Given the description of an element on the screen output the (x, y) to click on. 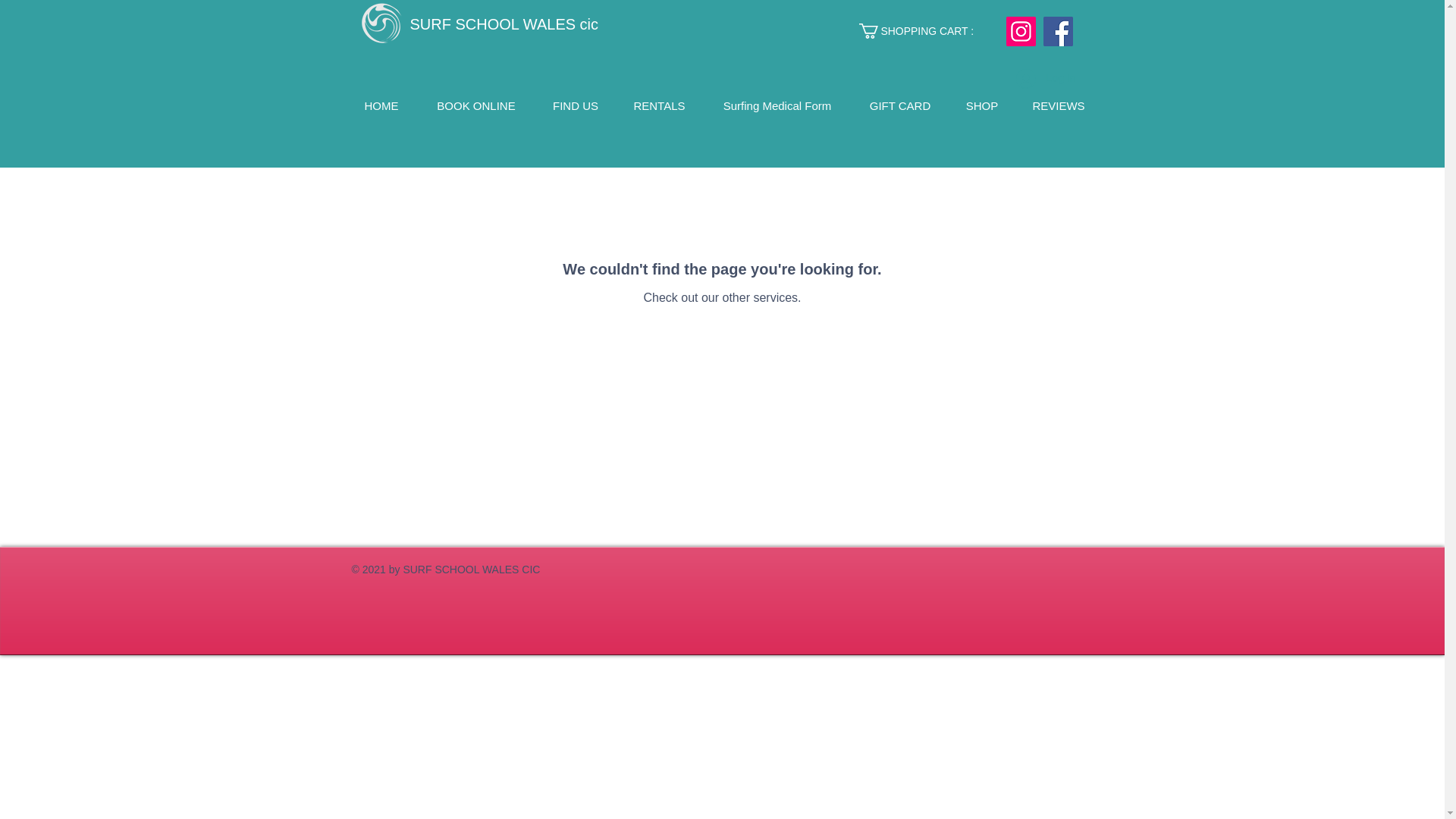
Surfing Medical Form (777, 103)
SHOP (981, 103)
SHOPPING CART : (926, 30)
REVIEWS (1058, 103)
BOOK ONLINE (476, 103)
SHOPPING CART : (926, 30)
RENTALS (659, 103)
SURF SCHOOL WALES cic (503, 23)
FIND US (574, 103)
HOME (380, 103)
GIFT CARD (899, 103)
Log In (1046, 78)
